Given the description of an element on the screen output the (x, y) to click on. 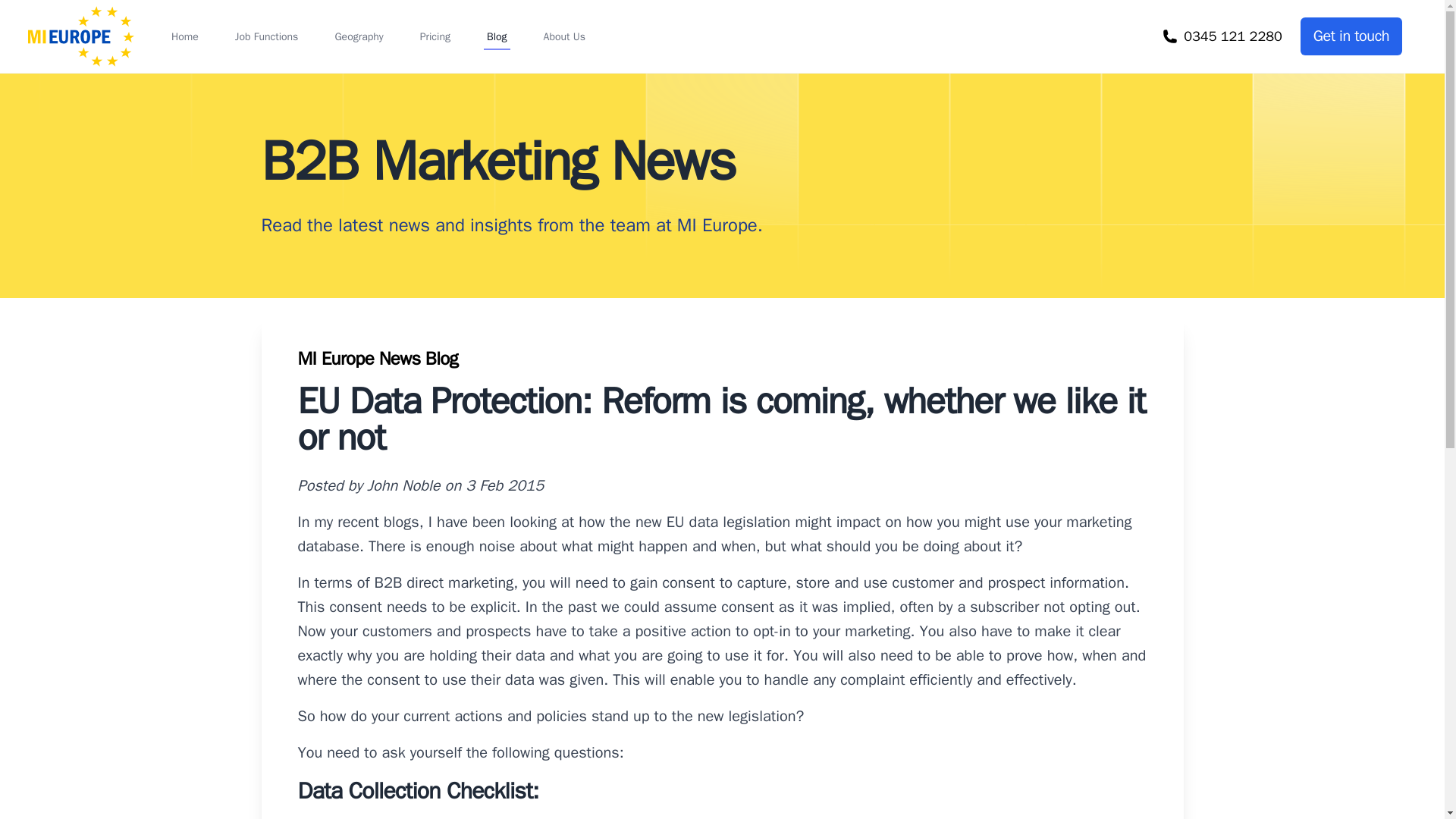
Get in touch (1351, 35)
Job Functions (266, 35)
Blog (497, 35)
Geography (358, 35)
0345 121 2280 (1221, 35)
MI Europe News Blog (377, 358)
Get in touch (1351, 36)
Pricing (434, 35)
About Us (564, 35)
Home (185, 35)
